Given the description of an element on the screen output the (x, y) to click on. 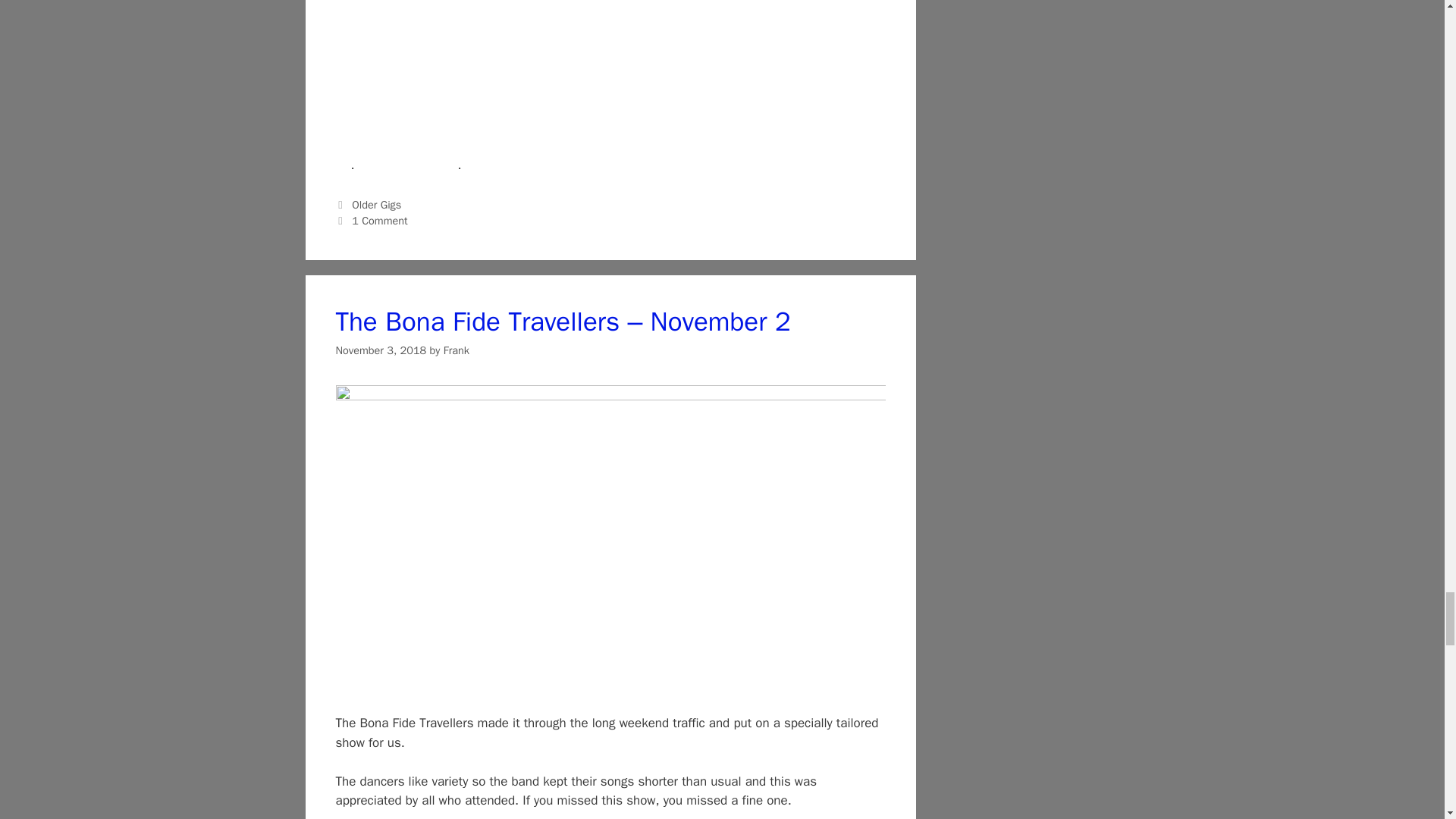
View all posts by Frank (456, 350)
